Given the description of an element on the screen output the (x, y) to click on. 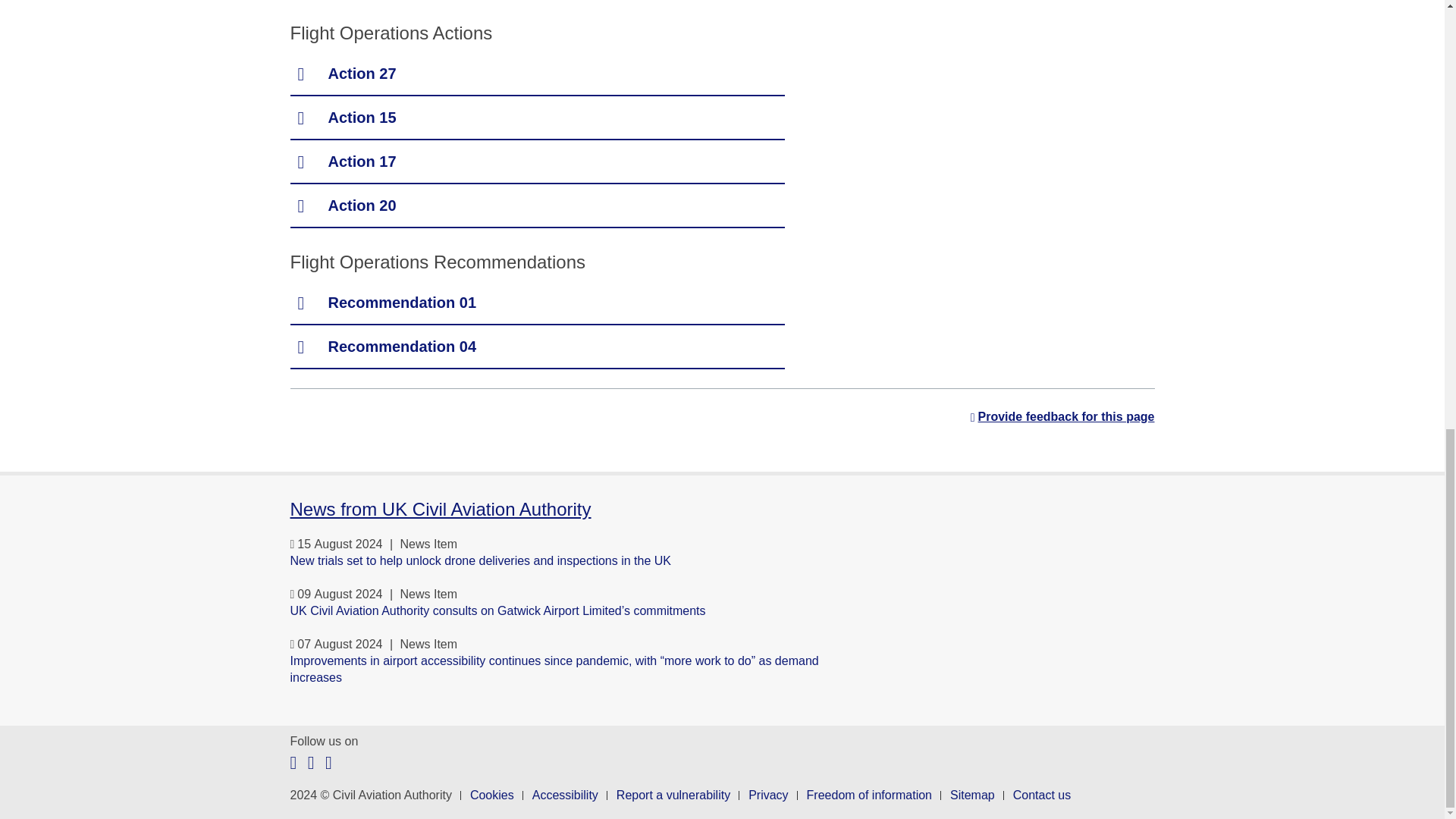
Provide feedback for this page (1062, 417)
Recommendation 01 (536, 303)
News from UK Civil Aviation Authority (440, 508)
Cookies (491, 794)
Action 27 (536, 74)
Recommendation 04 (536, 347)
Action 20 (536, 206)
Action 15 (536, 118)
Action 17 (536, 162)
